Given the description of an element on the screen output the (x, y) to click on. 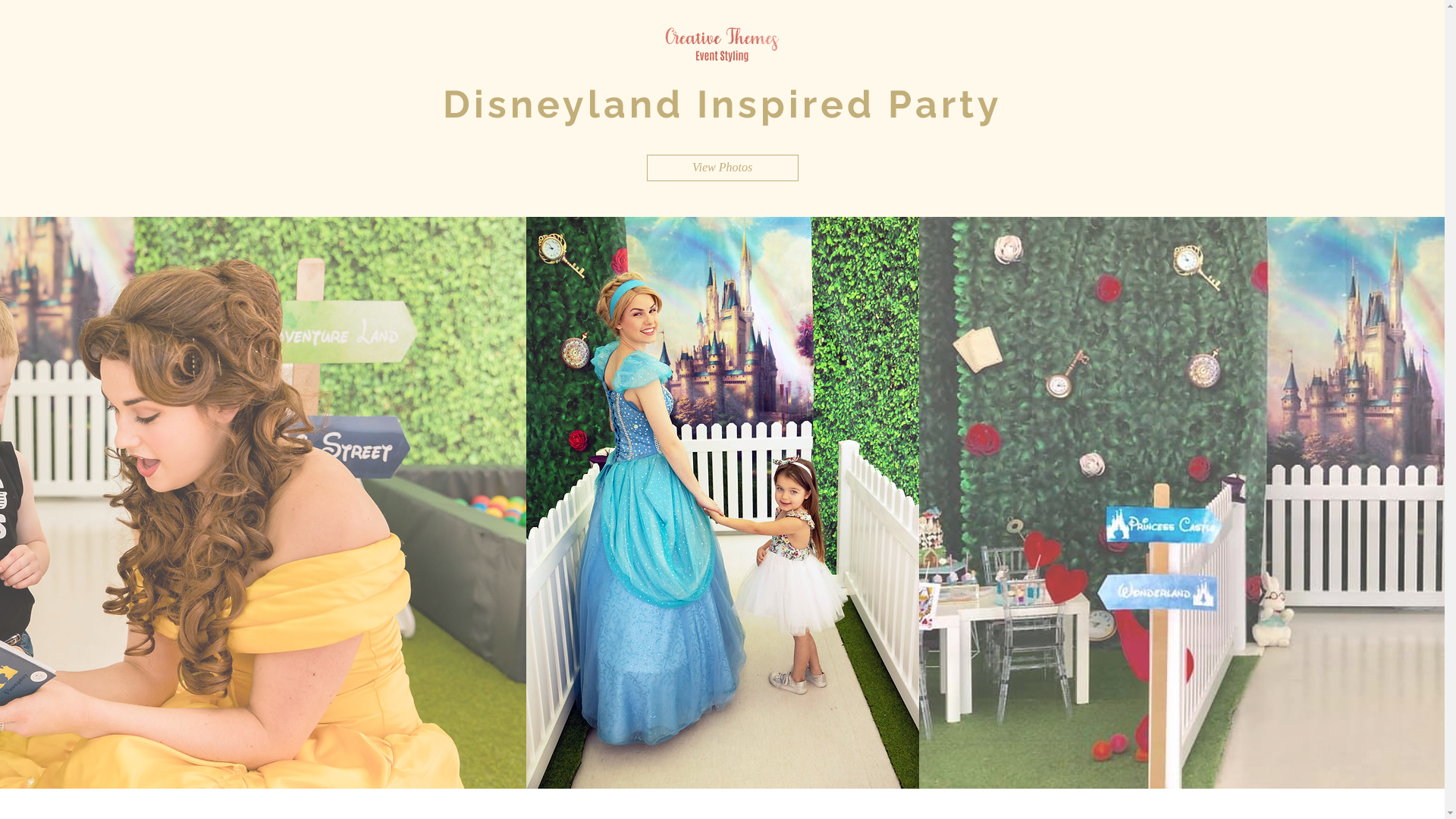
View Photos Element type: text (721, 167)
